Given the description of an element on the screen output the (x, y) to click on. 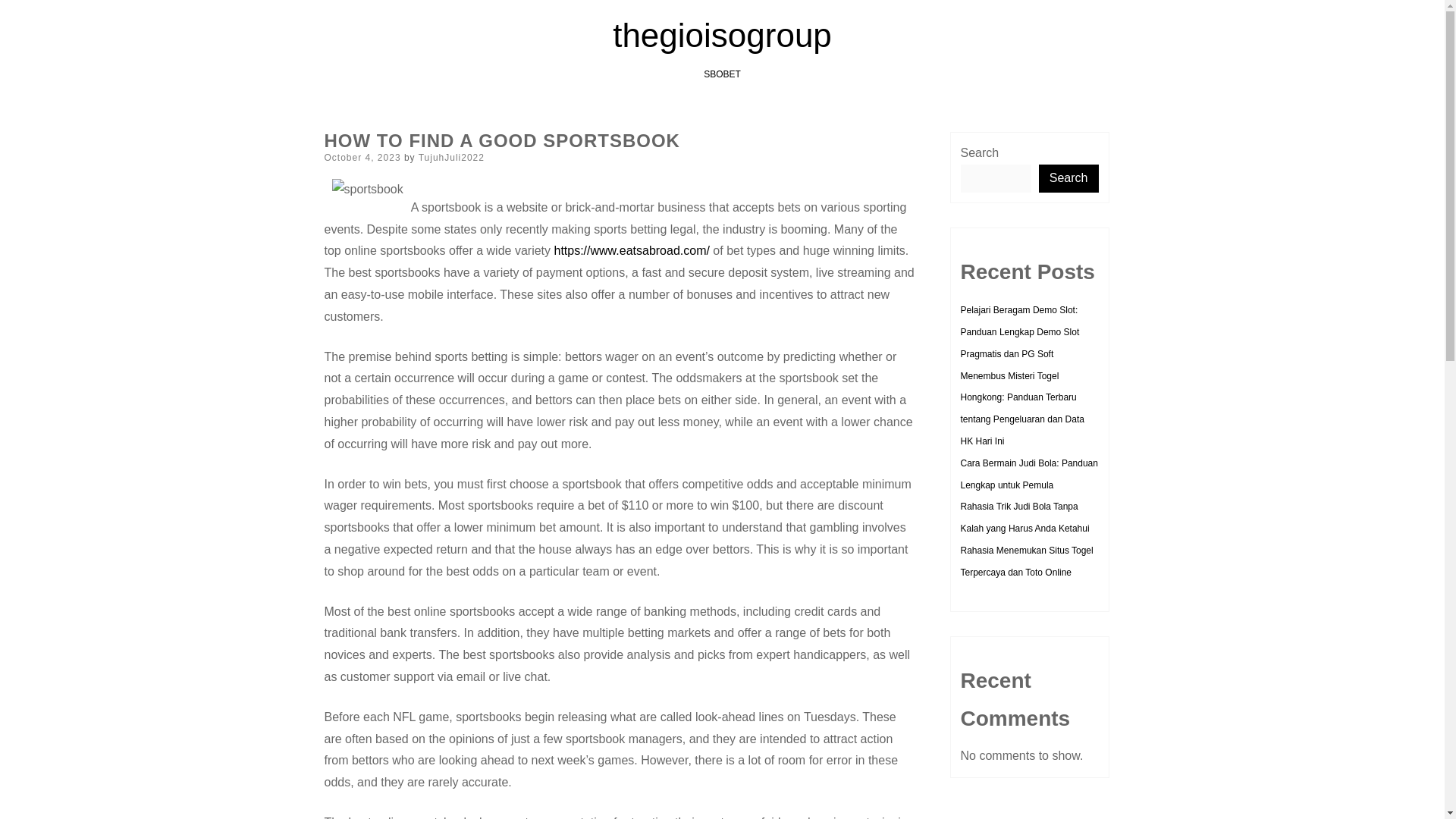
Search (1069, 178)
TujuhJuli2022 (451, 157)
Cara Bermain Judi Bola: Panduan Lengkap untuk Pemula (1028, 473)
thegioisogroup (721, 35)
Rahasia Trik Judi Bola Tanpa Kalah yang Harus Anda Ketahui (1024, 517)
Rahasia Menemukan Situs Togel Terpercaya dan Toto Online (1026, 561)
SBOBET (722, 73)
October 4, 2023 (362, 157)
